Given the description of an element on the screen output the (x, y) to click on. 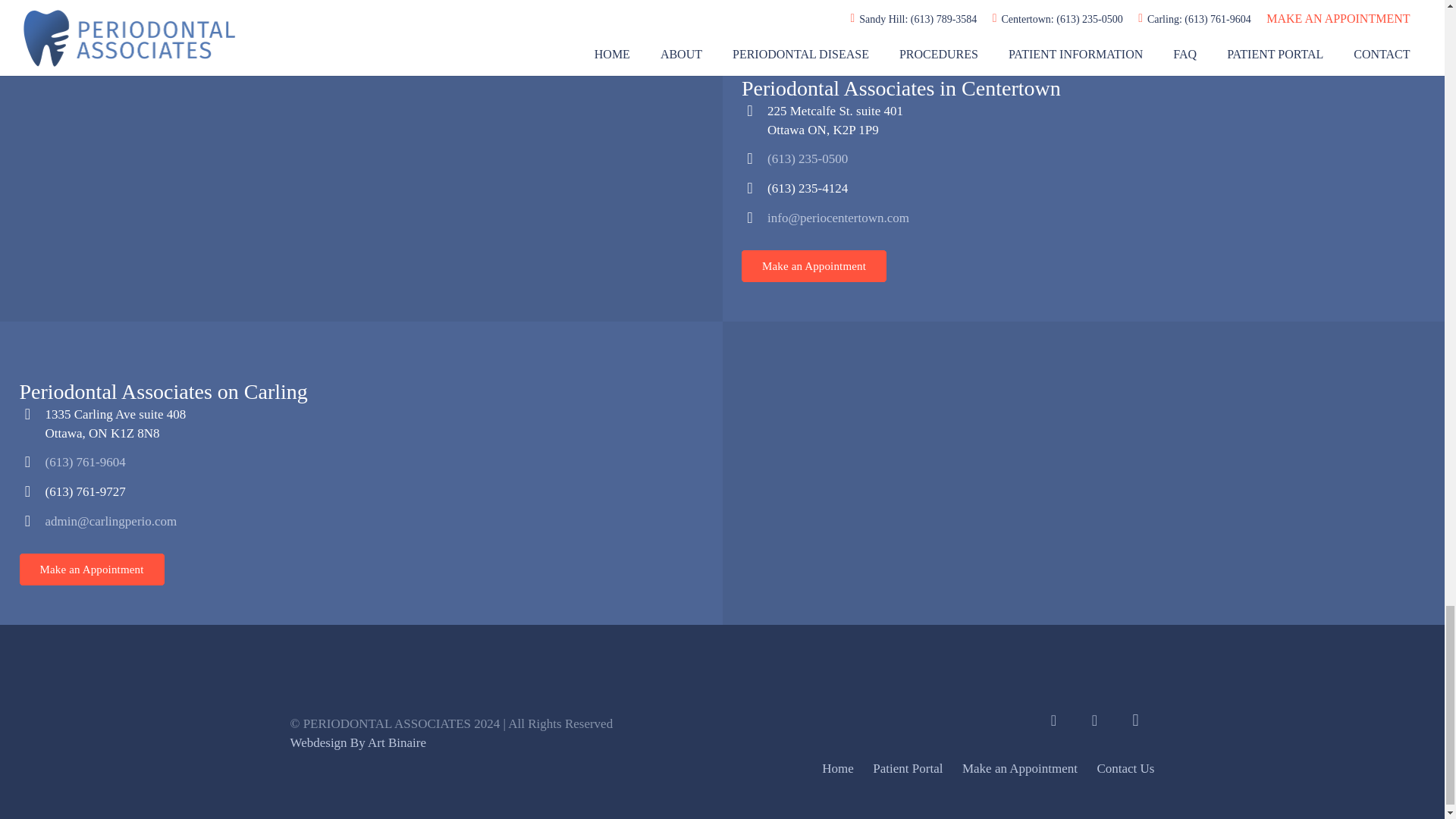
Email (1094, 720)
Facebook (1052, 720)
Instagram (1135, 720)
